Given the description of an element on the screen output the (x, y) to click on. 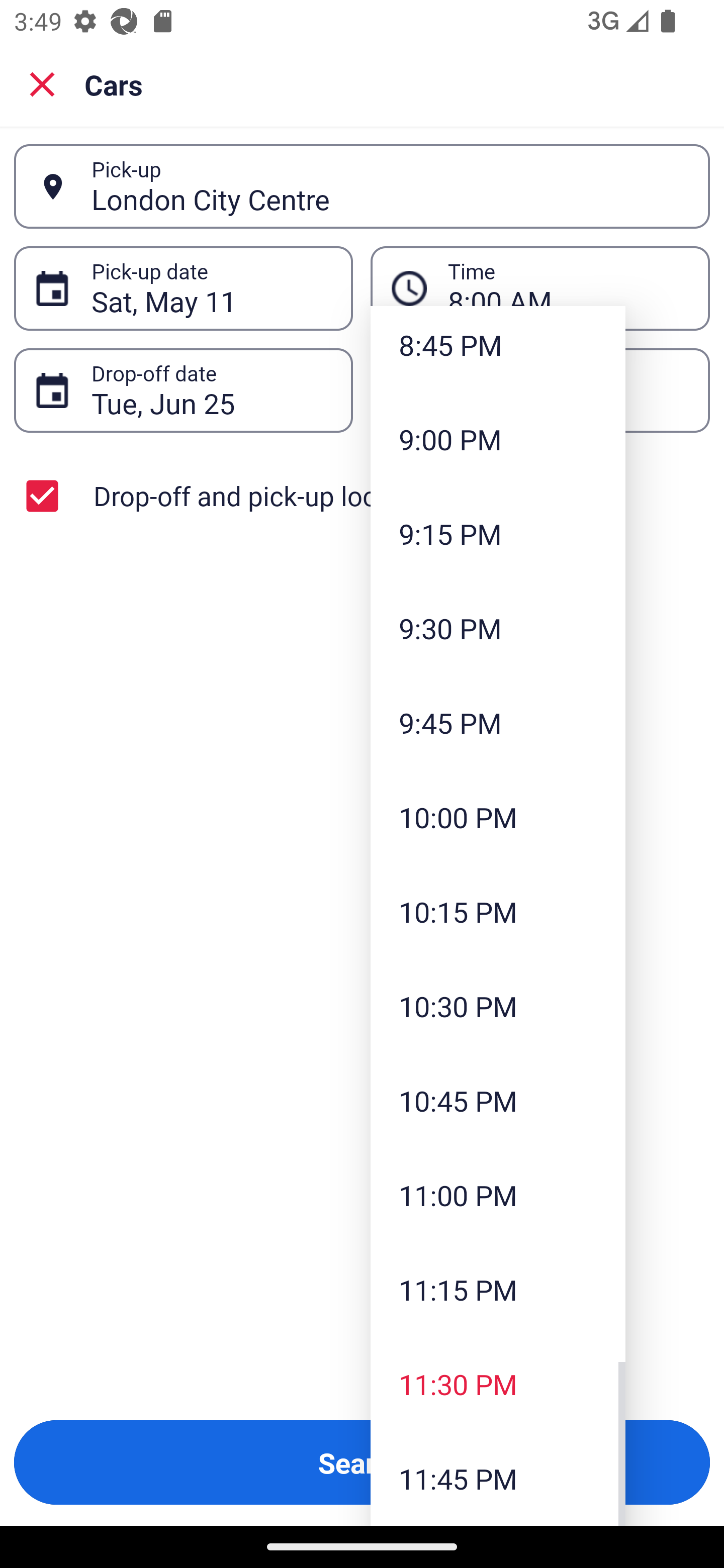
8:45 PM (497, 348)
9:00 PM (497, 439)
9:15 PM (497, 533)
9:30 PM (497, 628)
9:45 PM (497, 722)
10:00 PM (497, 816)
10:15 PM (497, 911)
10:30 PM (497, 1006)
10:45 PM (497, 1100)
11:00 PM (497, 1194)
11:15 PM (497, 1289)
11:30 PM (497, 1384)
11:45 PM (497, 1478)
